Given the description of an element on the screen output the (x, y) to click on. 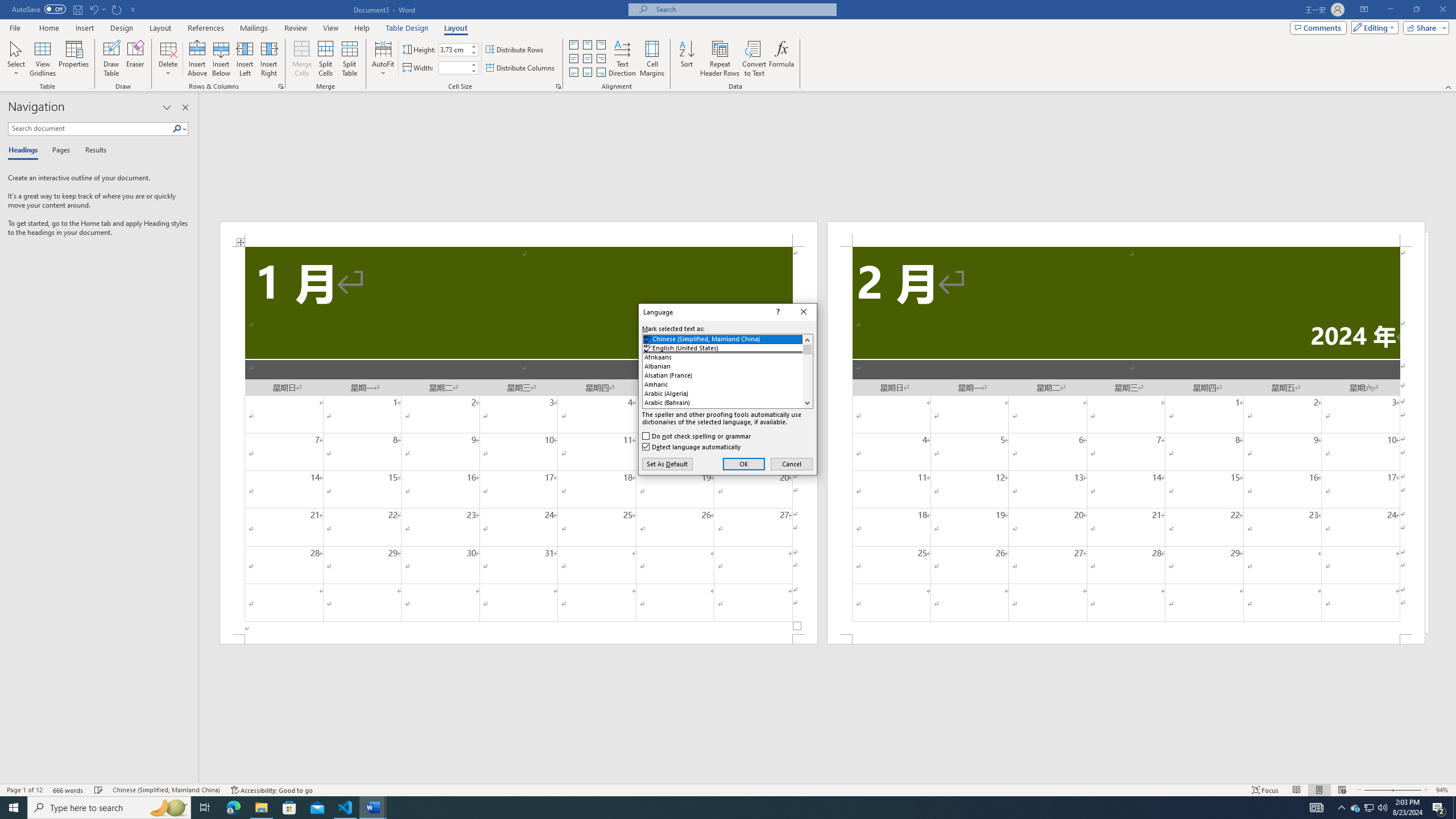
Align Center Right (601, 58)
Distribute Rows (515, 49)
Undo Increase Indent (96, 9)
Word - 2 running windows (373, 807)
Table Row Height (453, 49)
Mode (1372, 27)
Split Cells... (325, 58)
Class: MsoCommandBar (728, 789)
Review (295, 28)
Restore Down (1416, 9)
Start (13, 807)
OK (743, 463)
Set As Default (667, 463)
Design (122, 28)
